Given the description of an element on the screen output the (x, y) to click on. 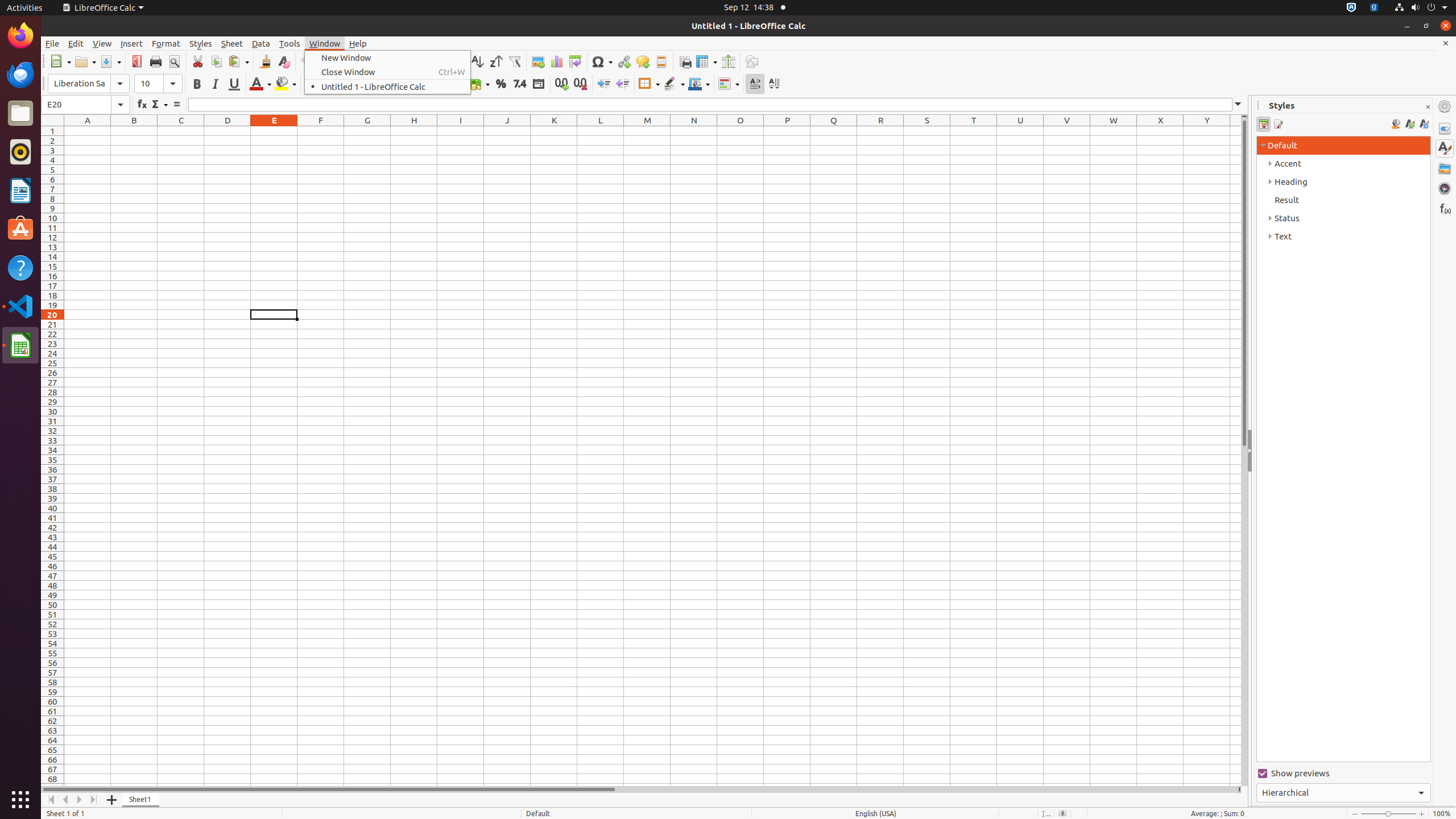
Thunderbird Mail Element type: push-button (20, 74)
Window Element type: menu (324, 43)
LibreOffice Calc Element type: push-button (20, 344)
Split Window Element type: push-button (727, 61)
Files Element type: push-button (20, 113)
